Given the description of an element on the screen output the (x, y) to click on. 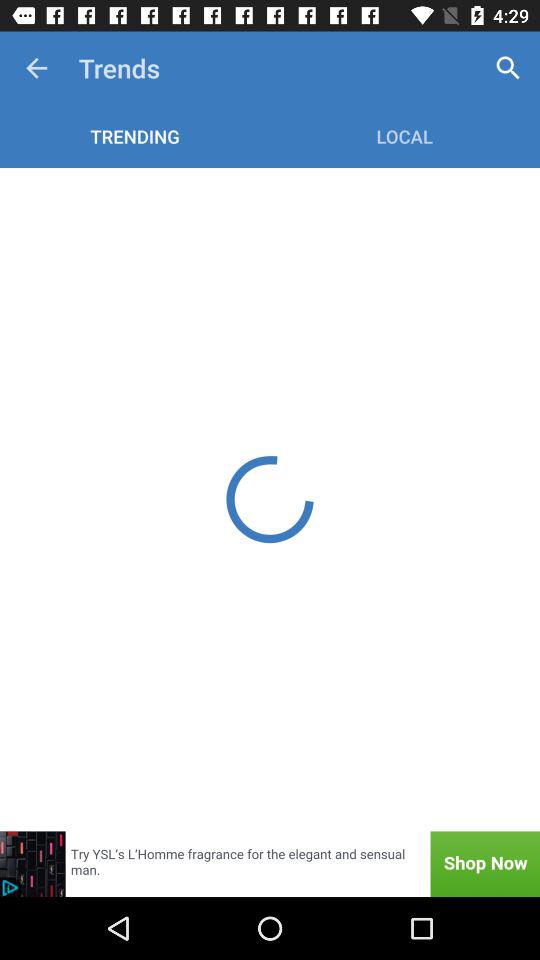
open the item to the left of the trends item (36, 68)
